Given the description of an element on the screen output the (x, y) to click on. 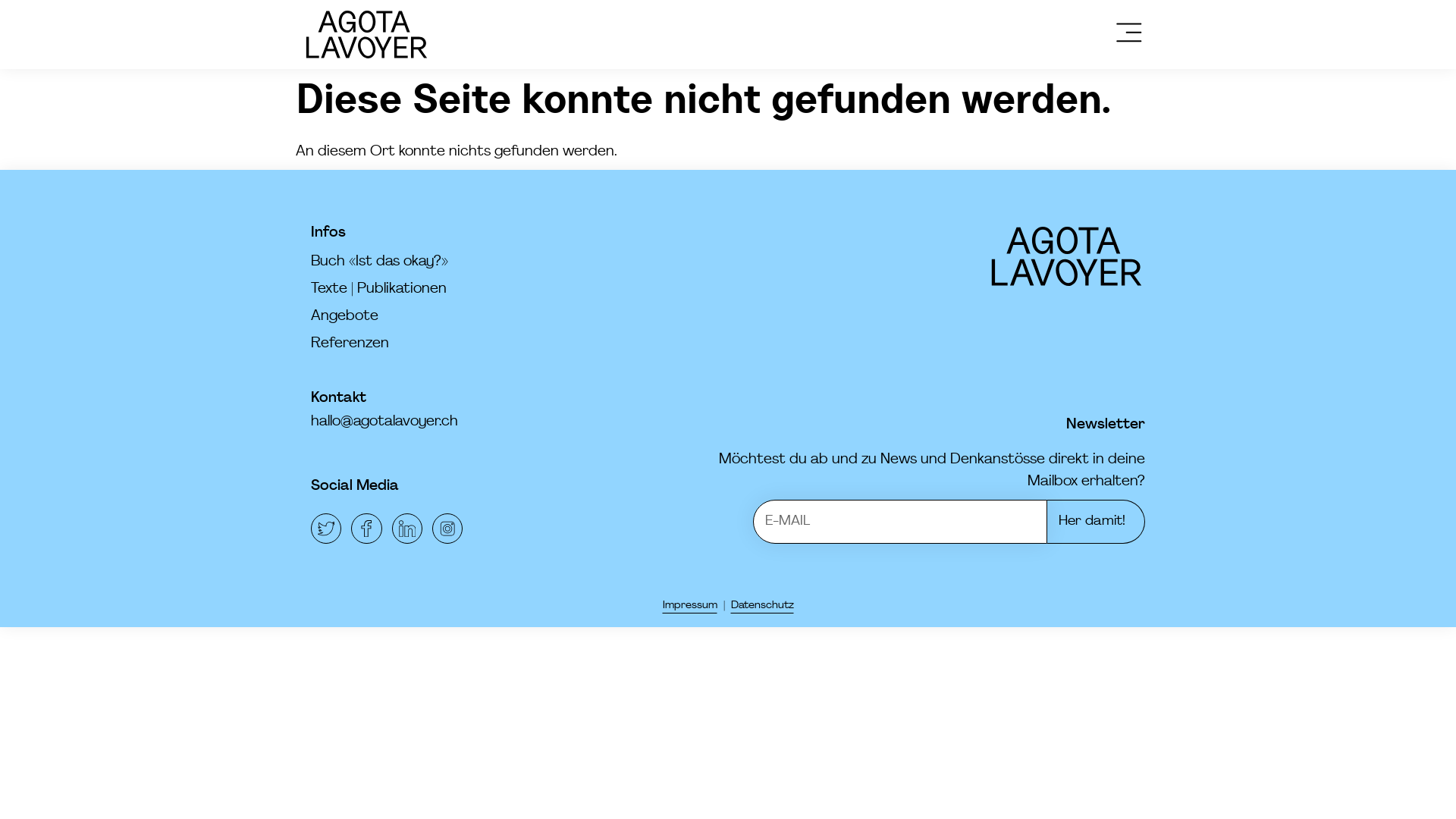
hallo@agotalavoyer.ch Element type: text (384, 421)
Impressum Element type: text (689, 605)
Angebote Element type: text (471, 316)
Referenzen Element type: text (471, 343)
Her damit! Element type: text (1096, 521)
Datenschutz Element type: text (762, 605)
Texte | Publikationen Element type: text (471, 289)
